Given the description of an element on the screen output the (x, y) to click on. 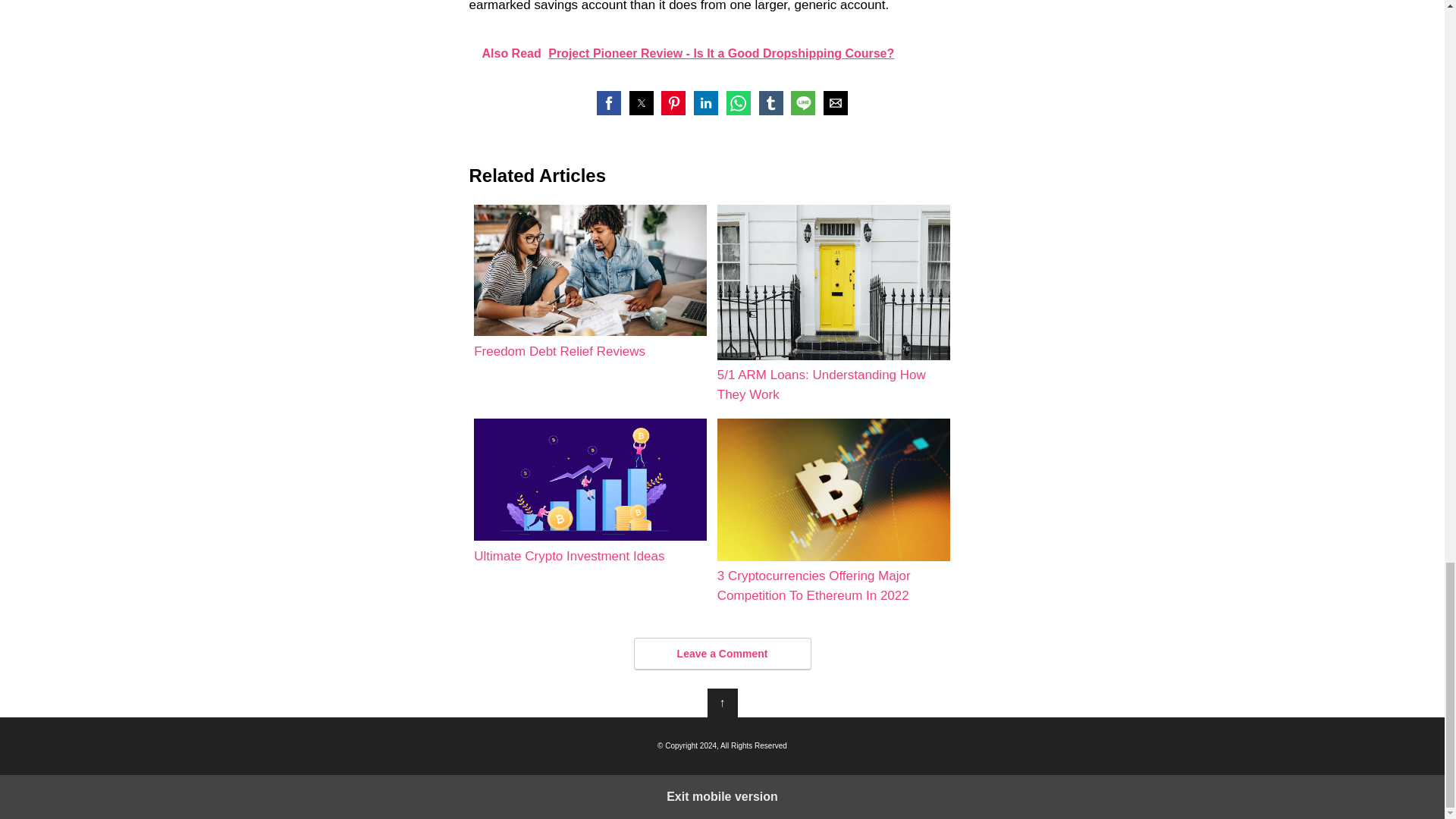
Leave a Comment (721, 654)
Freedom Debt Relief Reviews (590, 282)
Ultimate Crypto Investment Ideas (590, 492)
